Given the description of an element on the screen output the (x, y) to click on. 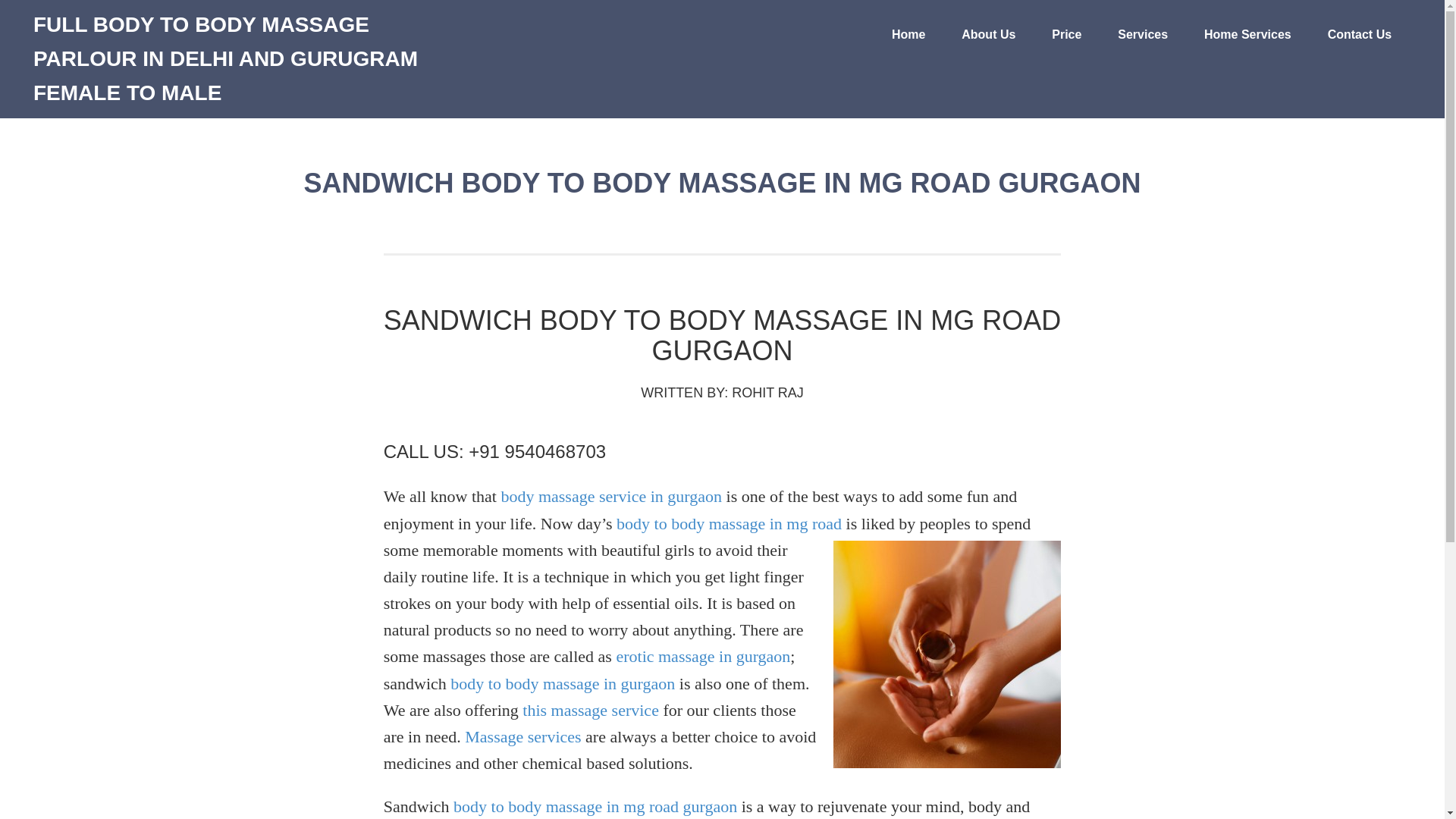
Home Services (1247, 34)
About Us (988, 34)
Contact Us (1359, 34)
body to body massage in mg road (728, 523)
Services (1142, 34)
Posts by Rohit Raj (767, 392)
this massage service (590, 710)
Price (1066, 34)
Home (908, 34)
body massage service in gurgaon (611, 496)
Massage services (522, 736)
ROHIT RAJ (767, 392)
body to body massage in mg road gurgaon (594, 805)
